Given the description of an element on the screen output the (x, y) to click on. 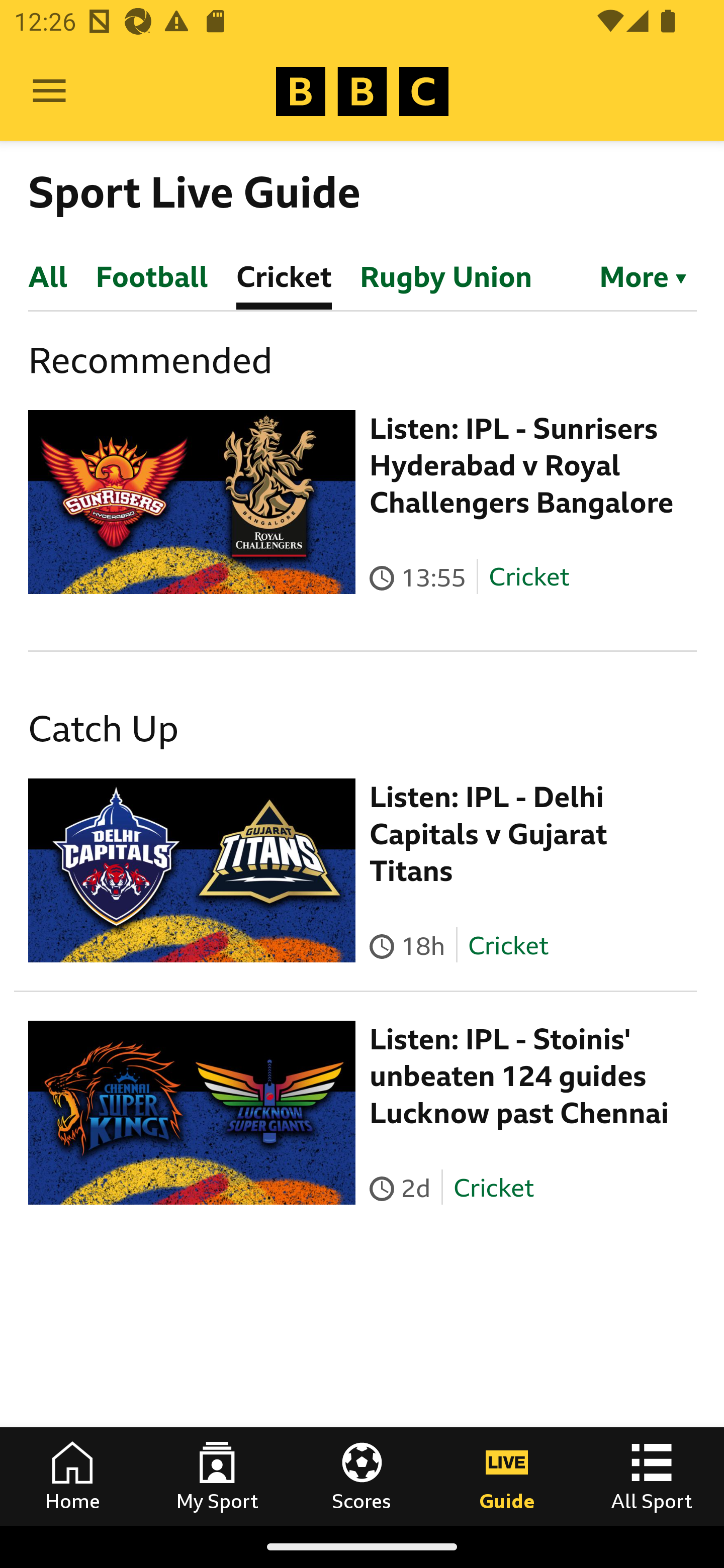
Open Menu (49, 91)
Filter by section. Currently selected: Cricket (634, 275)
Cricket (528, 576)
Listen: IPL - Delhi Capitals v Gujarat Titans (488, 833)
Cricket (507, 945)
Cricket (493, 1186)
Home (72, 1475)
My Sport (216, 1475)
Scores (361, 1475)
All Sport (651, 1475)
